Given the description of an element on the screen output the (x, y) to click on. 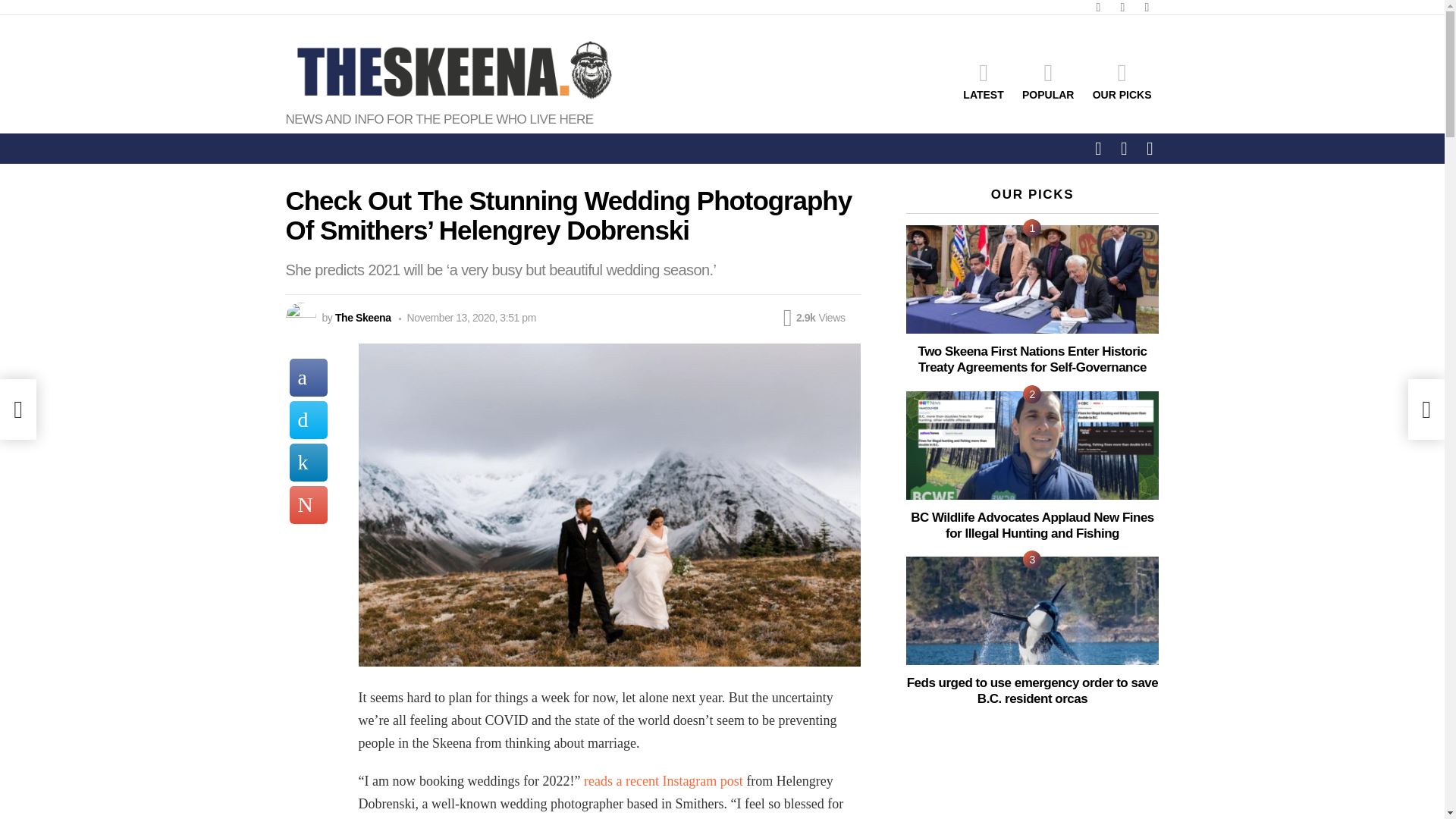
Share on LinkedIn (308, 462)
Posts by The Skeena (362, 317)
OUR PICKS (1121, 80)
POPULAR (1047, 80)
twitter (1121, 7)
Share on Twitter (308, 419)
facebook (1097, 7)
LATEST (982, 80)
instagram (1146, 7)
The Skeena (362, 317)
